Given the description of an element on the screen output the (x, y) to click on. 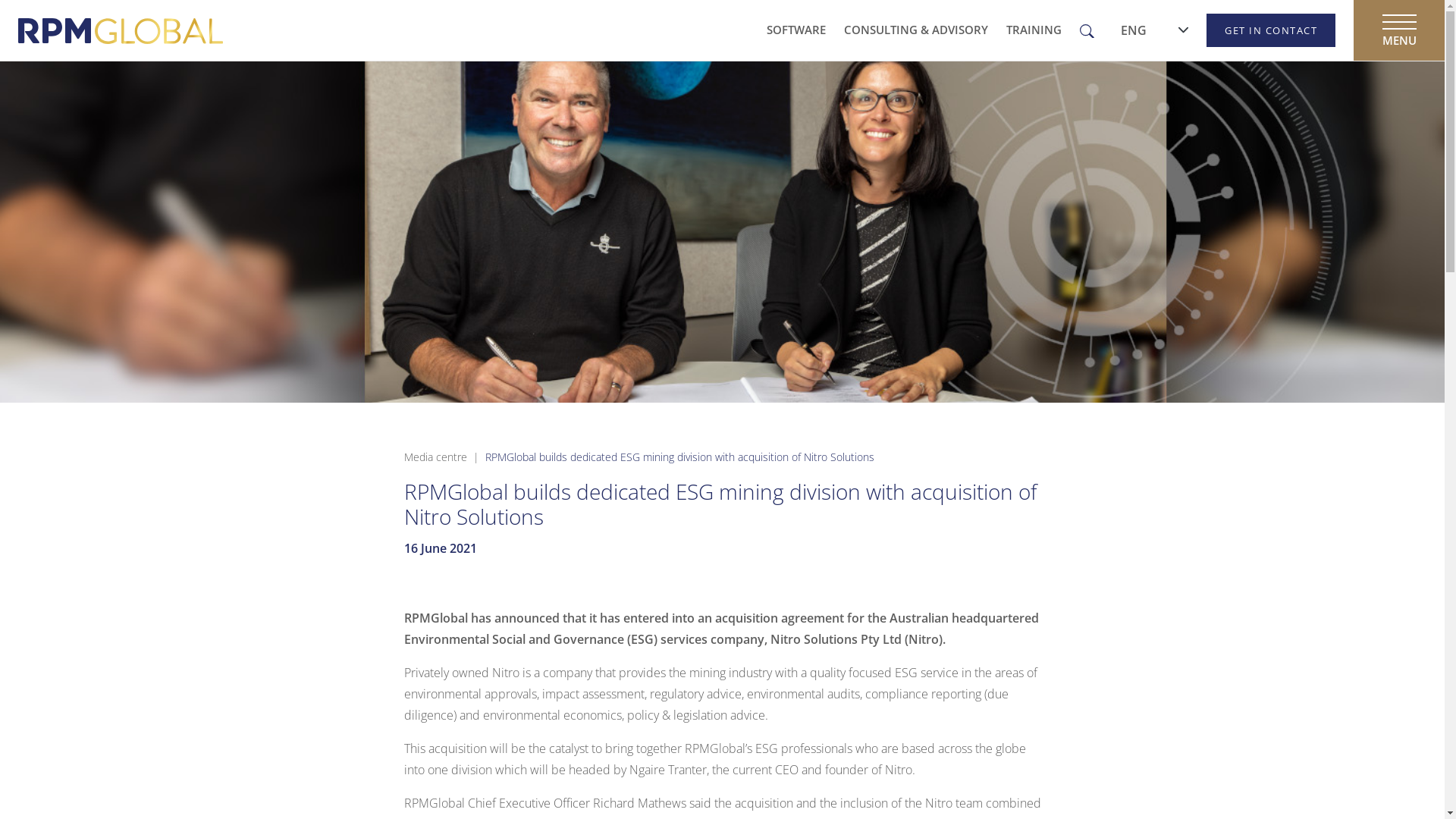
CONSULTING & ADVISORY Element type: text (915, 29)
Media centre Element type: text (434, 456)
GET IN CONTACT Element type: text (1270, 30)
SOFTWARE Element type: text (795, 29)
TRAINING Element type: text (1033, 29)
